Given the description of an element on the screen output the (x, y) to click on. 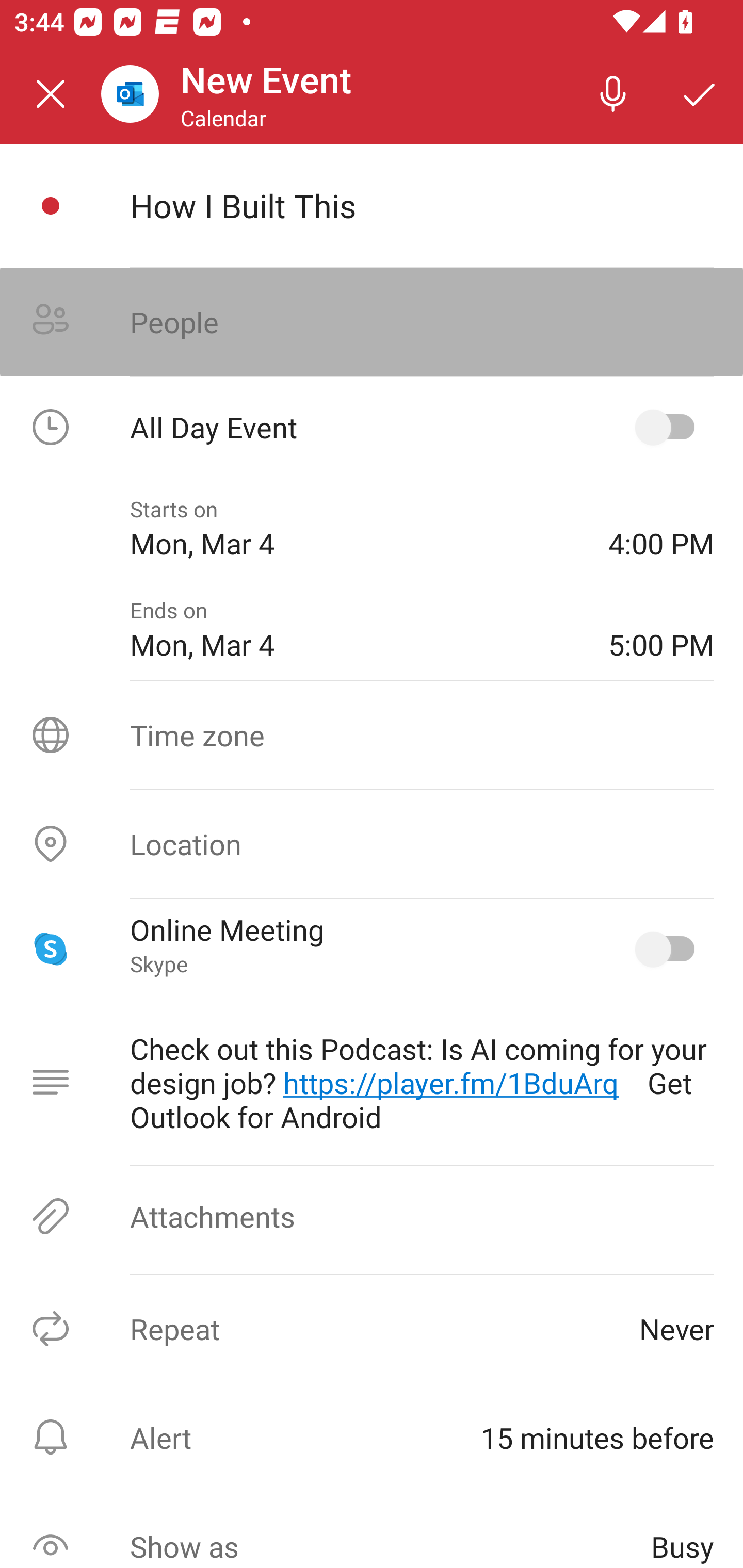
Close (50, 93)
Save (699, 93)
How I Built This (422, 205)
Event icon picker (50, 206)
People (371, 322)
All Day Event (371, 427)
Starts on Mon, Mar 4 (354, 528)
4:00 PM (660, 528)
Ends on Mon, Mar 4 (354, 629)
5:00 PM (660, 629)
Time zone (371, 734)
Location (371, 844)
Online Meeting, Skype selected (669, 949)
Attachments (371, 1215)
Repeat Never (371, 1328)
Alert ⁨15 minutes before (371, 1436)
Show as Busy (371, 1530)
